Given the description of an element on the screen output the (x, y) to click on. 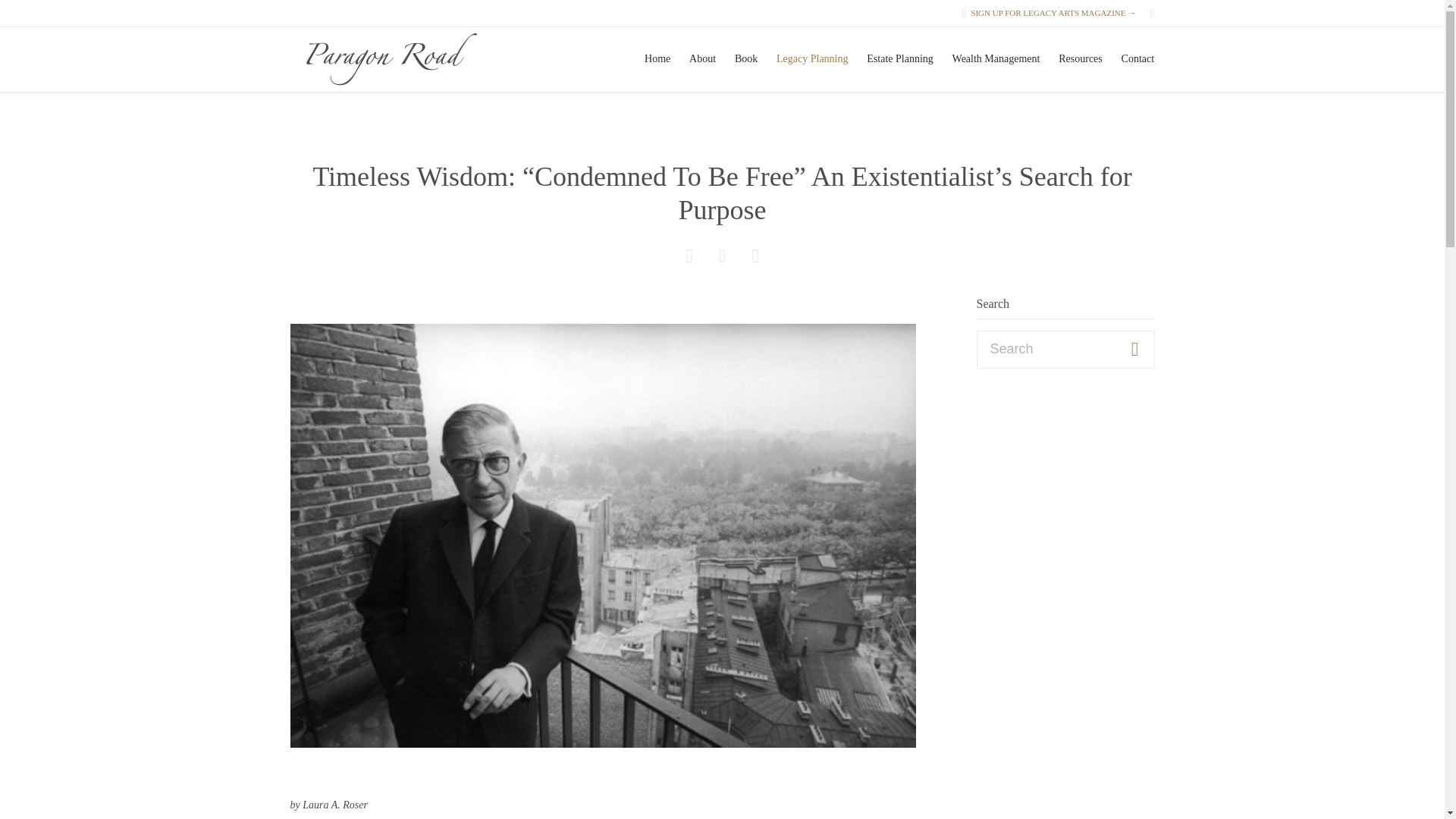
Wealth Management (995, 58)
About (702, 58)
Resources (1080, 58)
Home (658, 58)
Estate Planning (899, 58)
Legacy Planning (812, 58)
Book (745, 58)
Search (1134, 350)
